Given the description of an element on the screen output the (x, y) to click on. 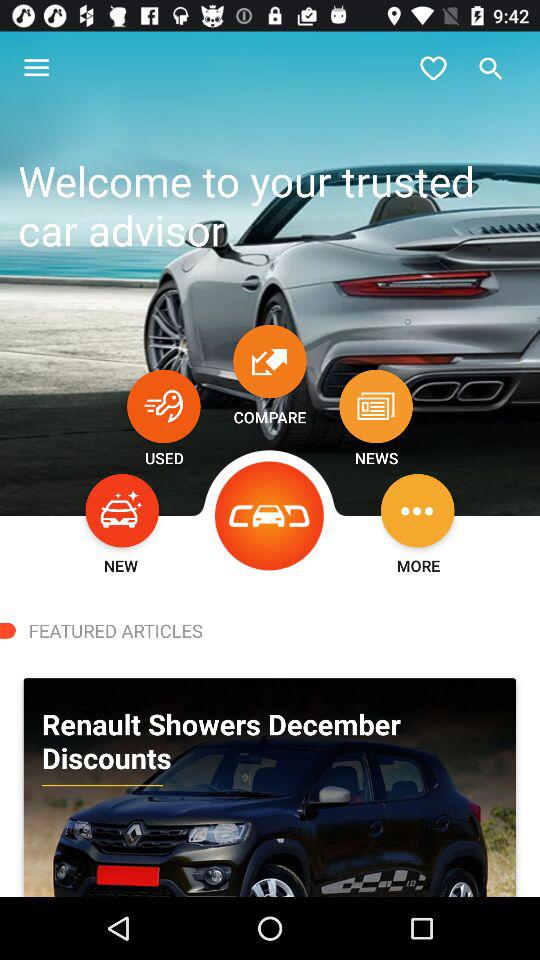
open search field open search box (491, 68)
